Given the description of an element on the screen output the (x, y) to click on. 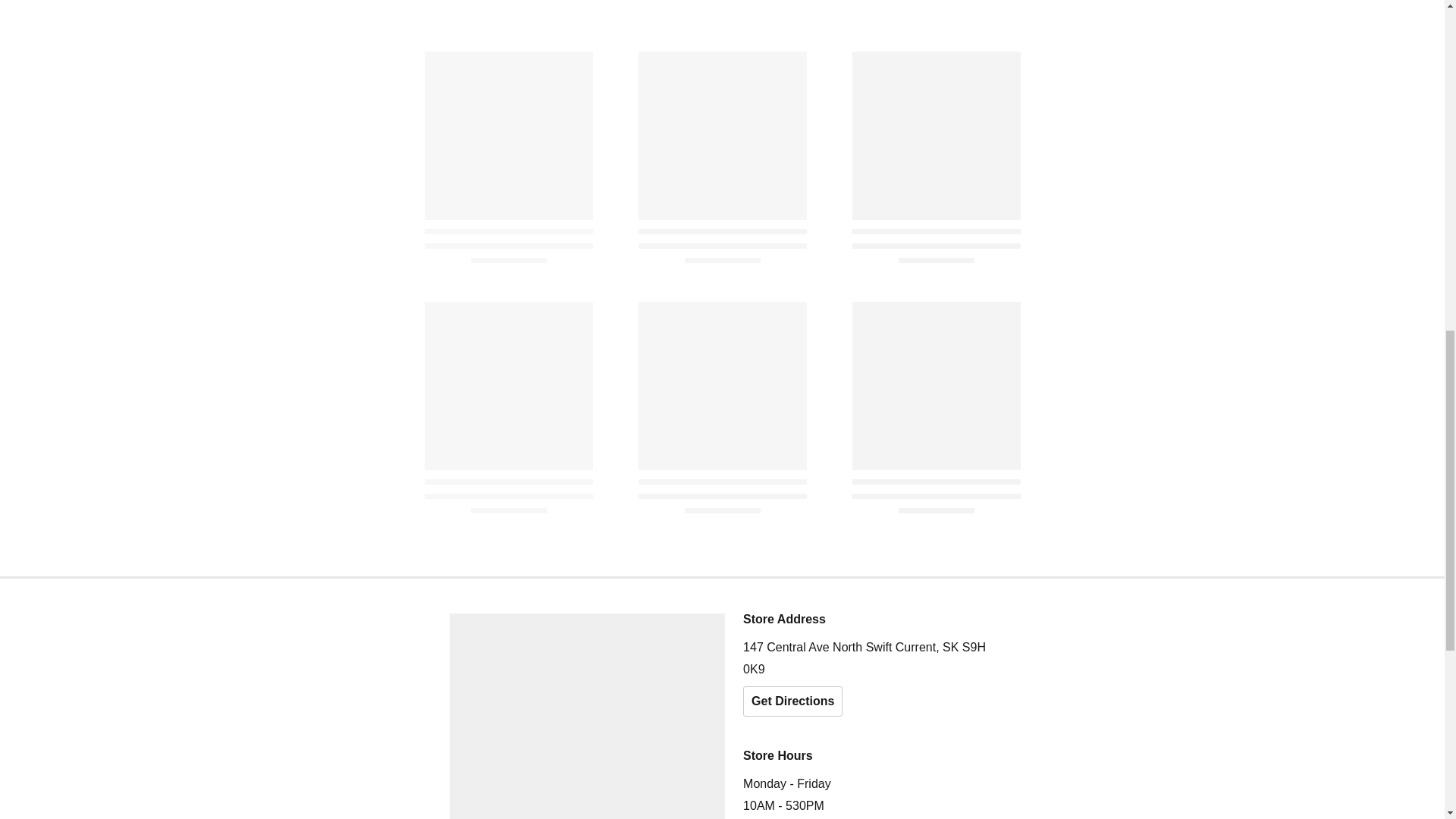
Get Directions (792, 701)
Location on map (586, 716)
